Given the description of an element on the screen output the (x, y) to click on. 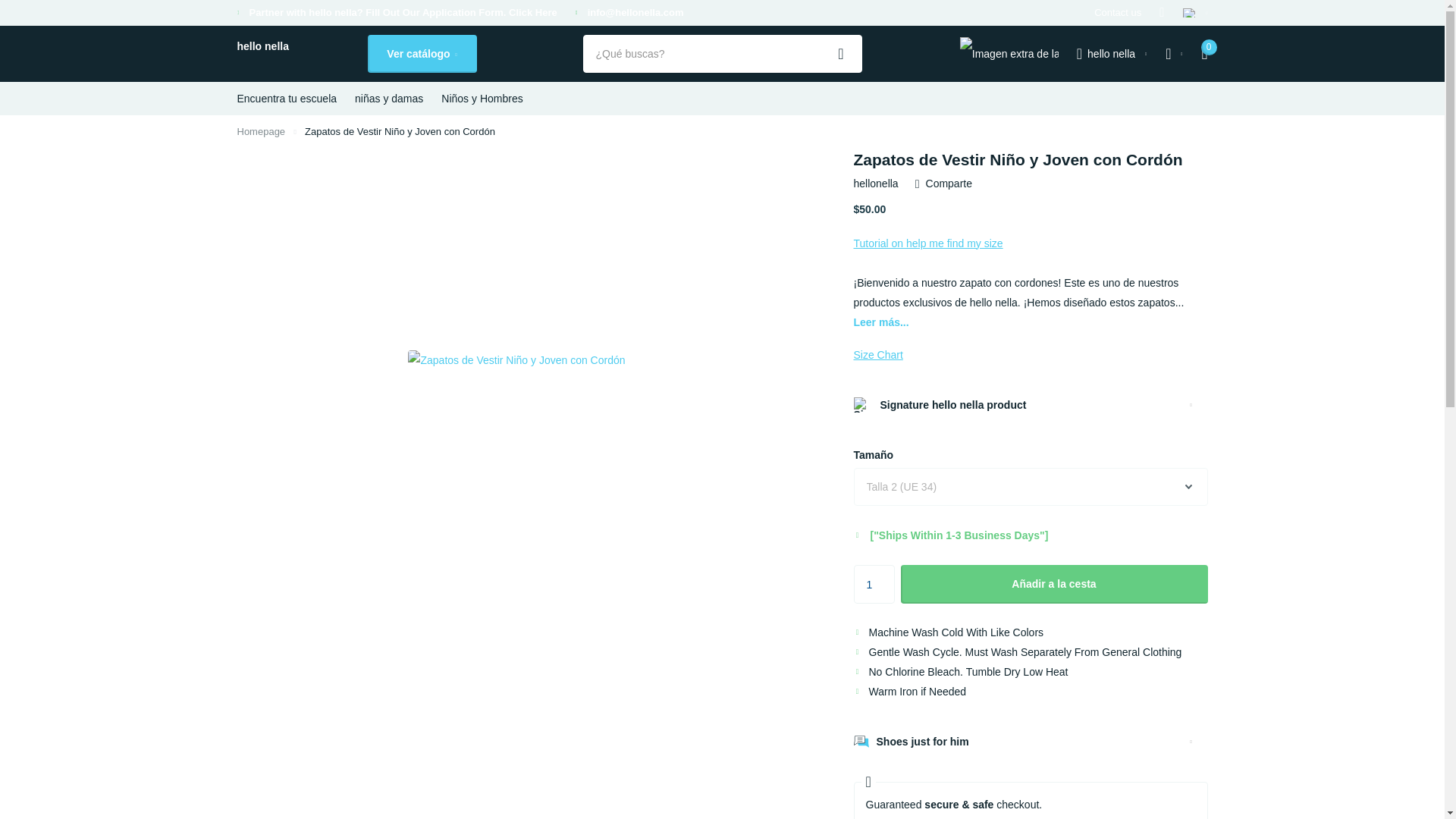
Busque en (841, 53)
Partner with hello nella (402, 12)
Contact us (1117, 12)
1 (874, 583)
Home (260, 131)
hello nella (1112, 53)
Encuentra tu escuela (285, 98)
